Given the description of an element on the screen output the (x, y) to click on. 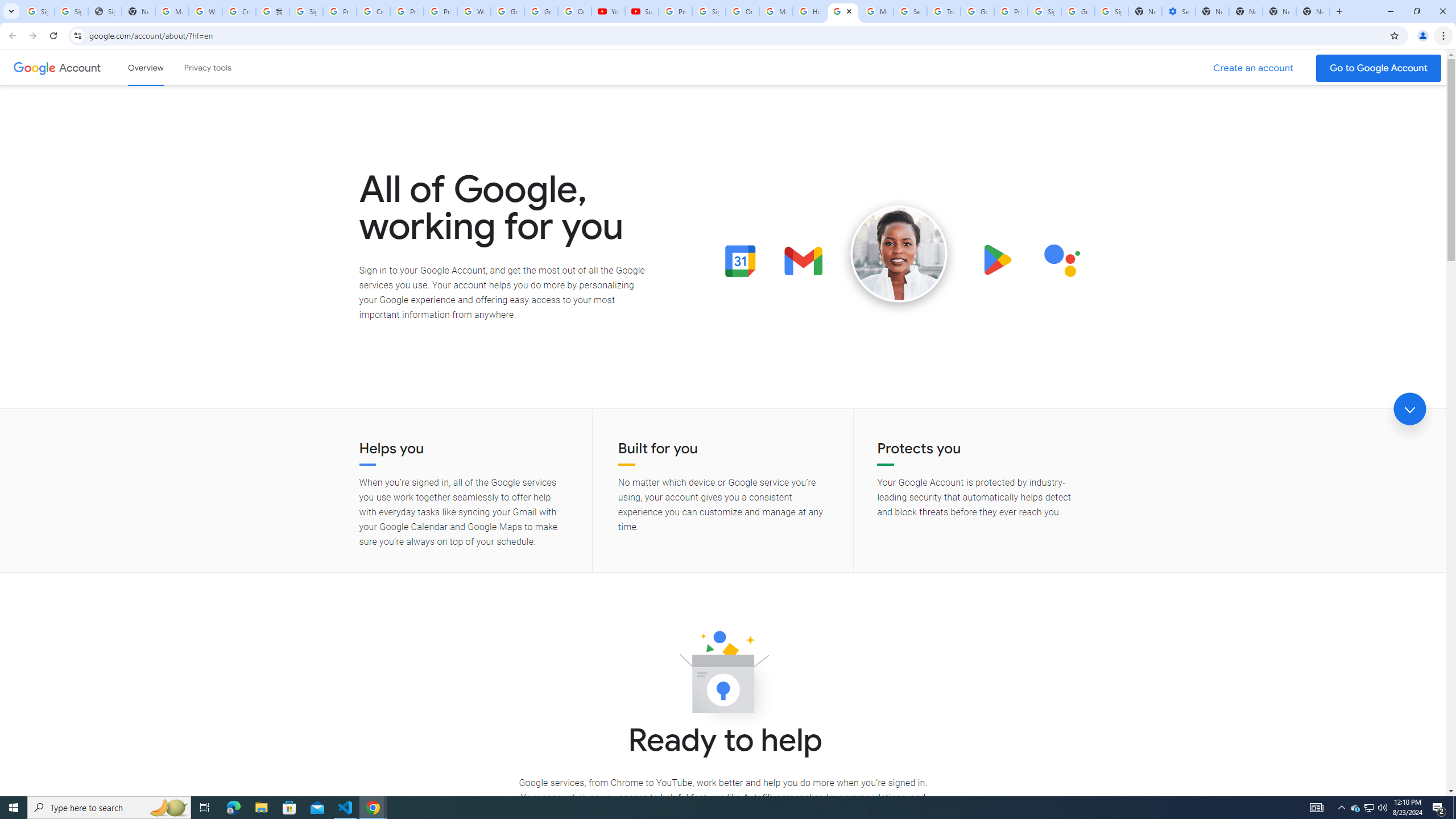
Sign in - Google Accounts (1043, 11)
Create a Google Account (1253, 67)
Create your Google Account (372, 11)
Privacy tools (207, 67)
Skip to Content (162, 65)
New Tab (1313, 11)
